Given the description of an element on the screen output the (x, y) to click on. 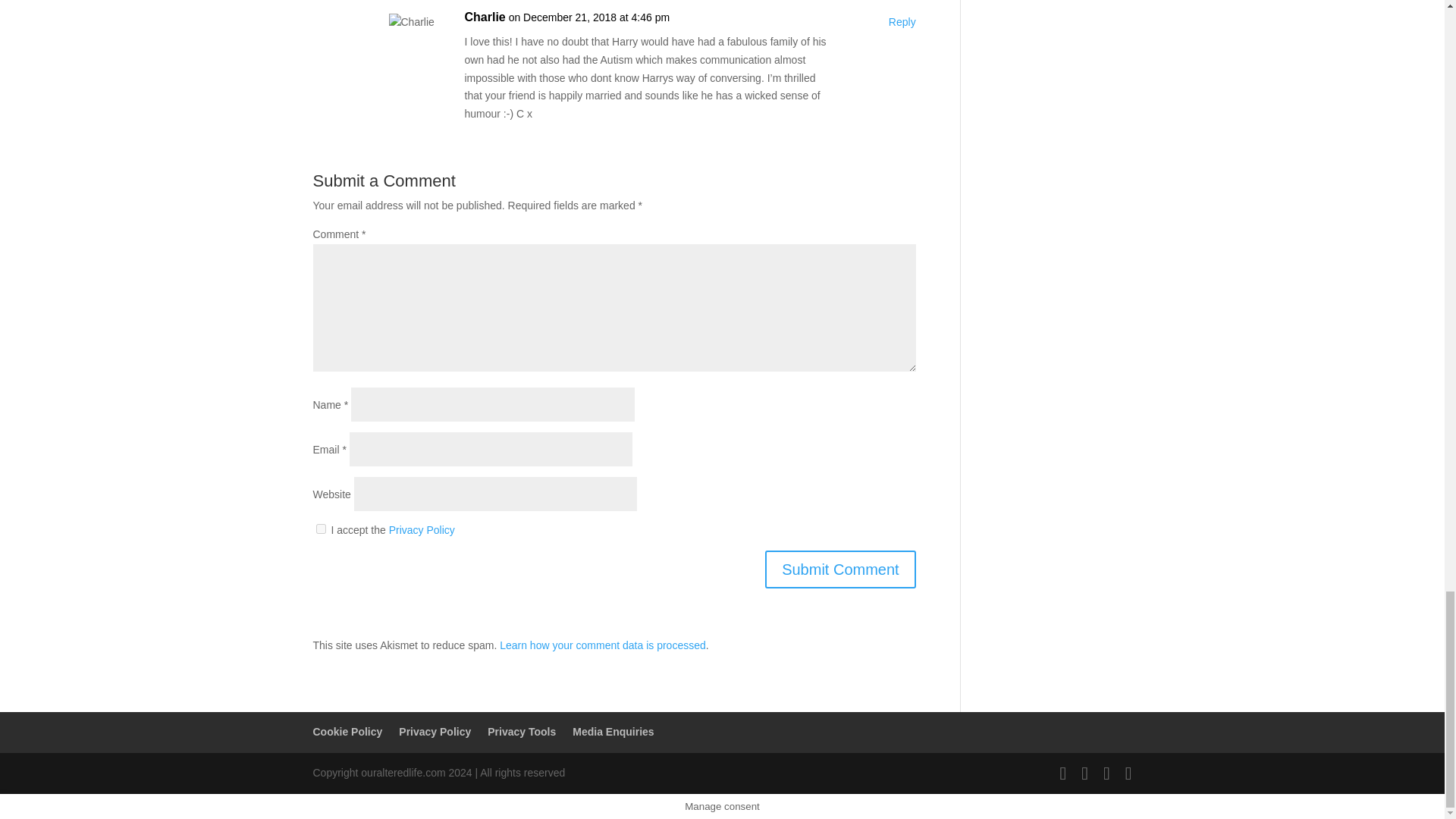
Privacy Policy (421, 530)
Submit Comment (840, 569)
1 (319, 528)
Submit Comment (840, 569)
Learn how your comment data is processed (602, 645)
Reply (901, 22)
